Given the description of an element on the screen output the (x, y) to click on. 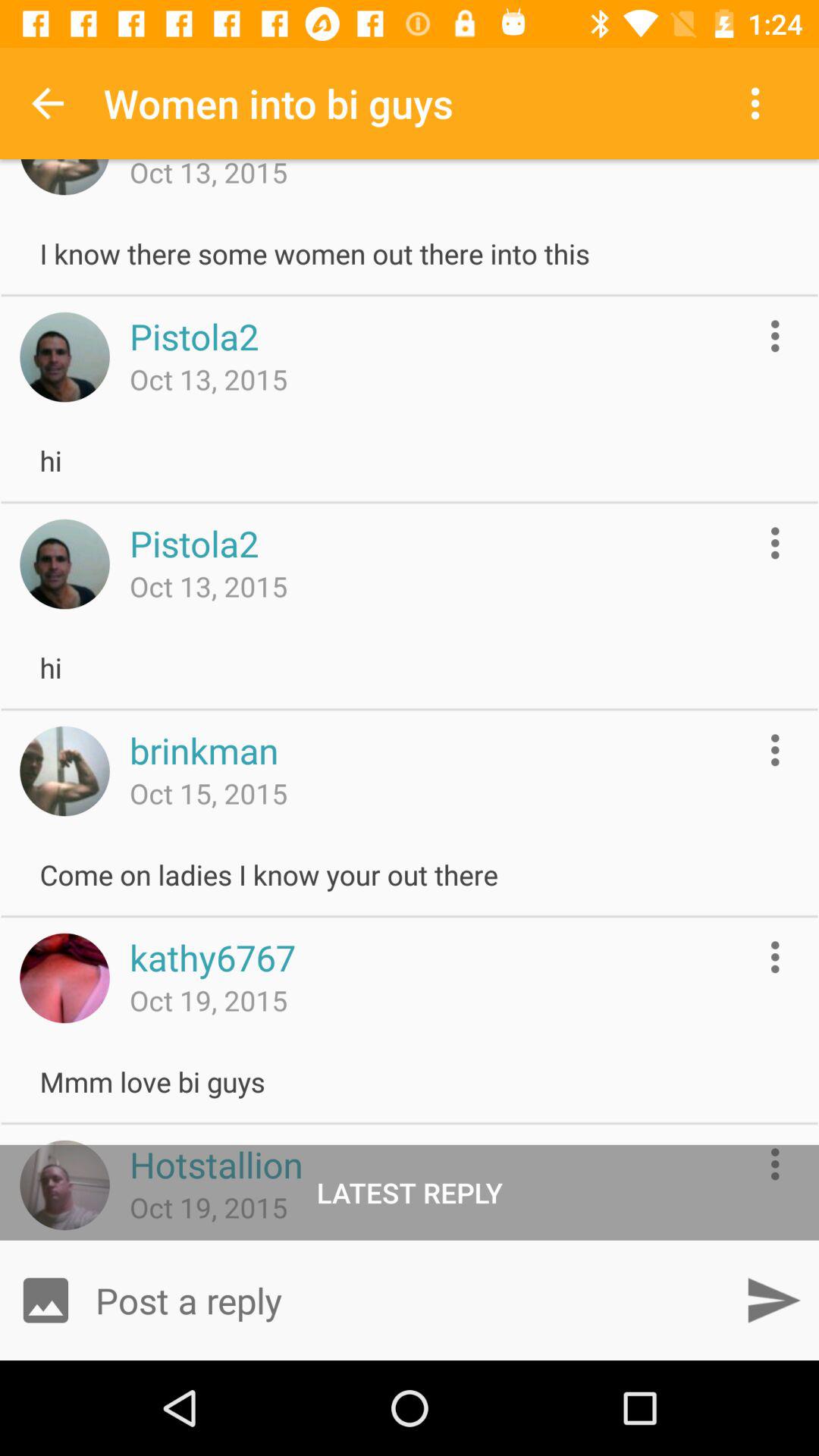
select user (64, 357)
